Given the description of an element on the screen output the (x, y) to click on. 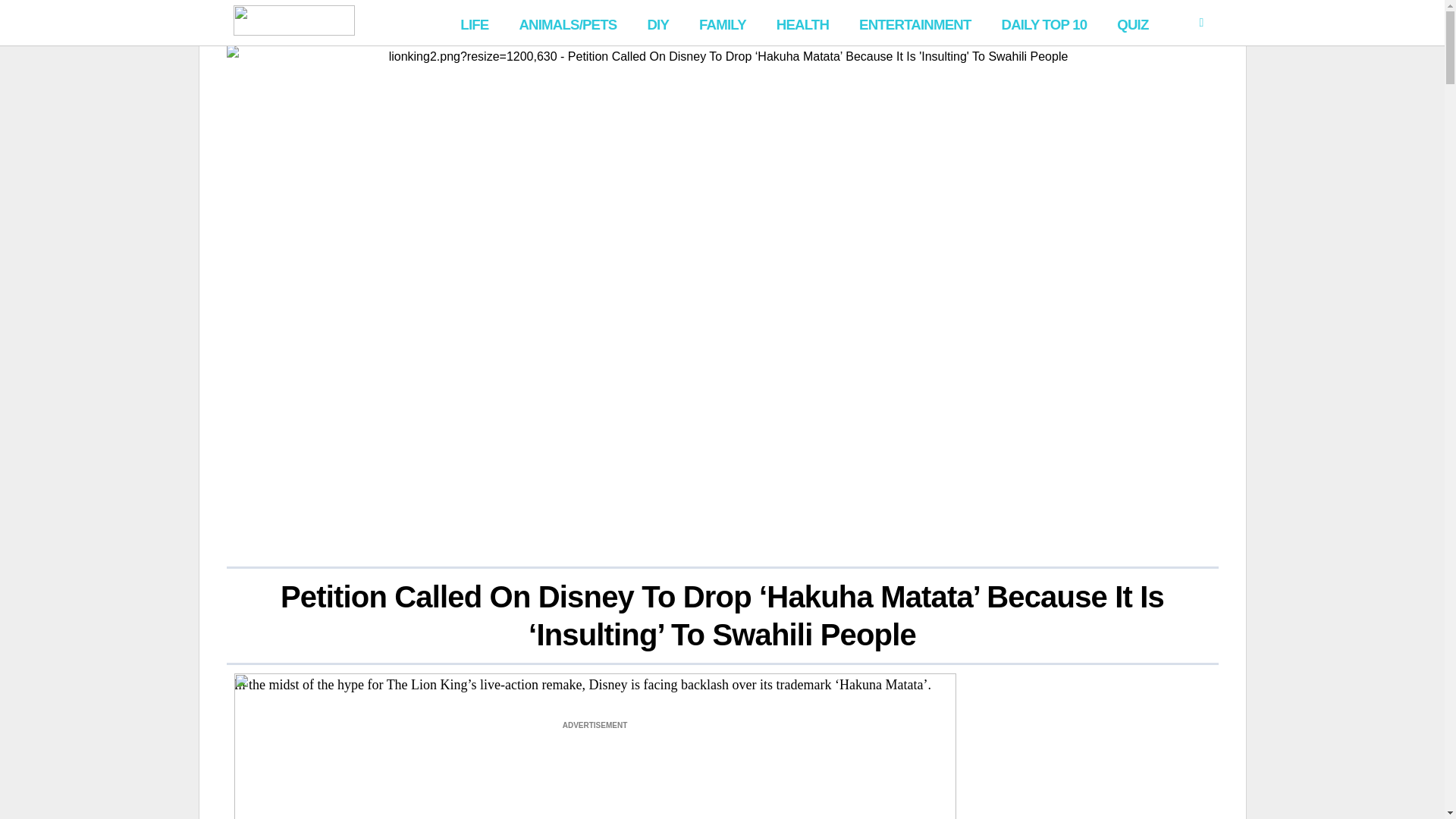
HEALTH (801, 22)
ENTERTAINMENT (914, 22)
DAILY TOP 10 (1043, 22)
LIFE (474, 22)
FAMILY (722, 22)
QUIZ (1132, 22)
